Given the description of an element on the screen output the (x, y) to click on. 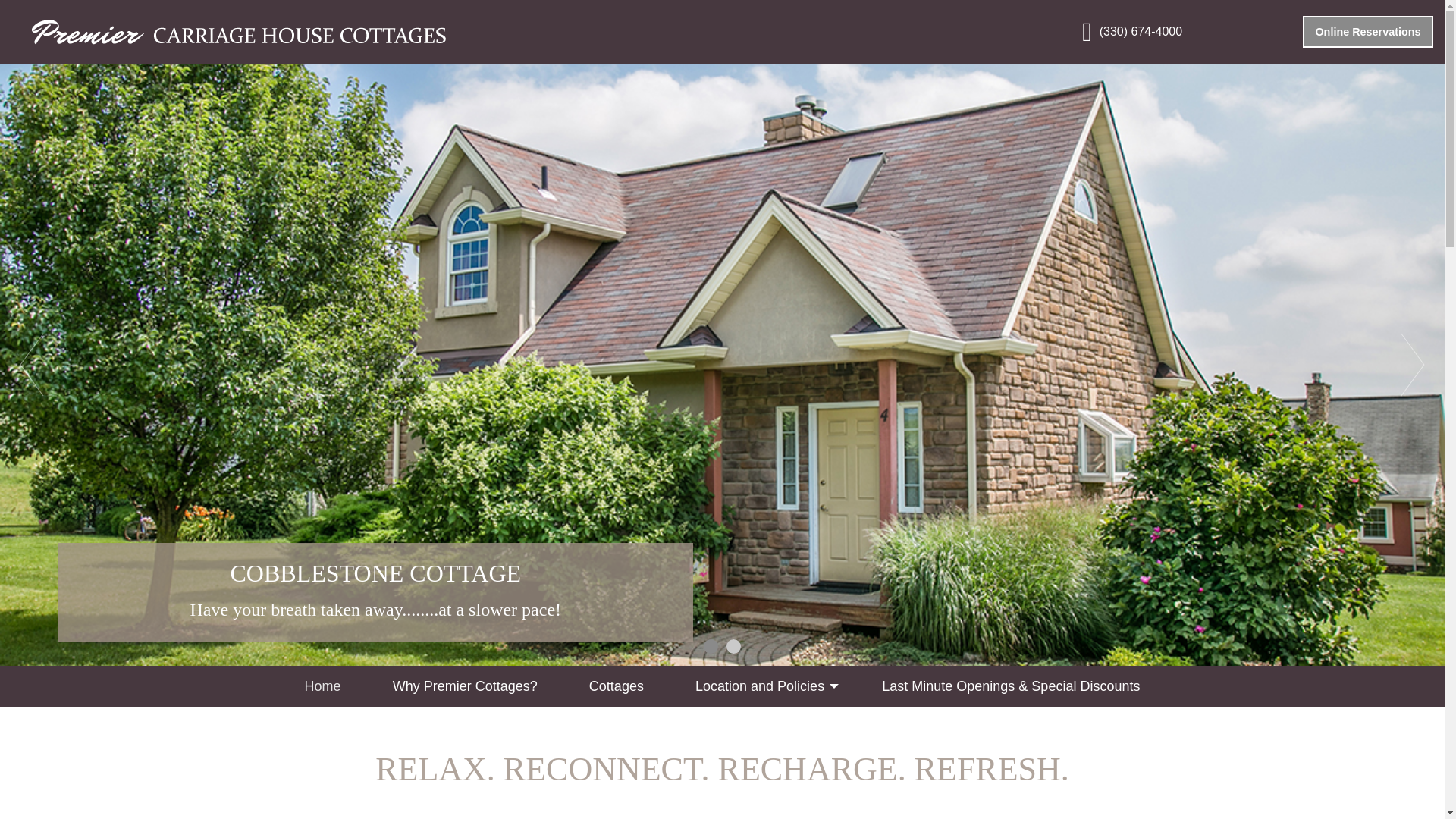
Location and Policies (762, 685)
Online Reservations (1367, 31)
1 (733, 646)
Why Premier Cottages? (465, 685)
Cottages (710, 646)
Home (616, 685)
